Given the description of an element on the screen output the (x, y) to click on. 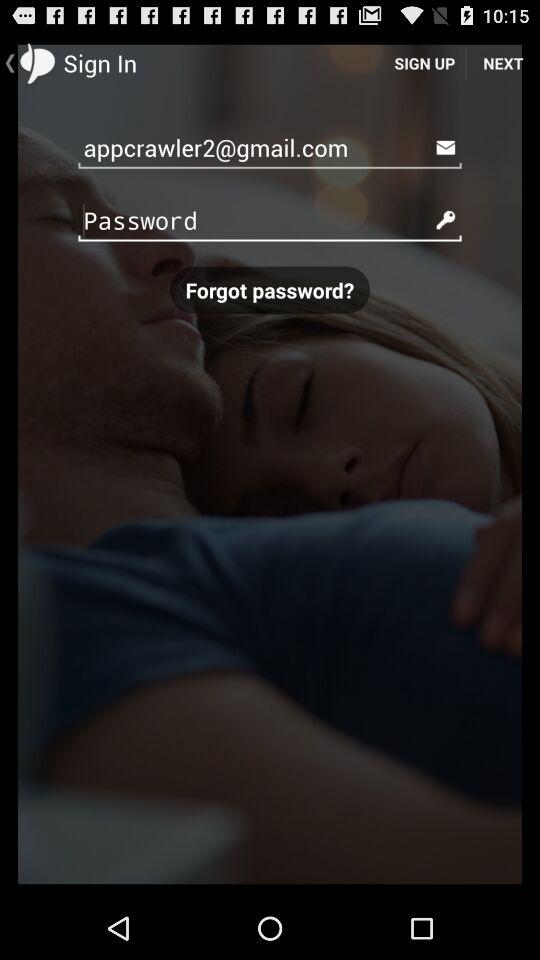
turn off the icon next to next icon (424, 62)
